Given the description of an element on the screen output the (x, y) to click on. 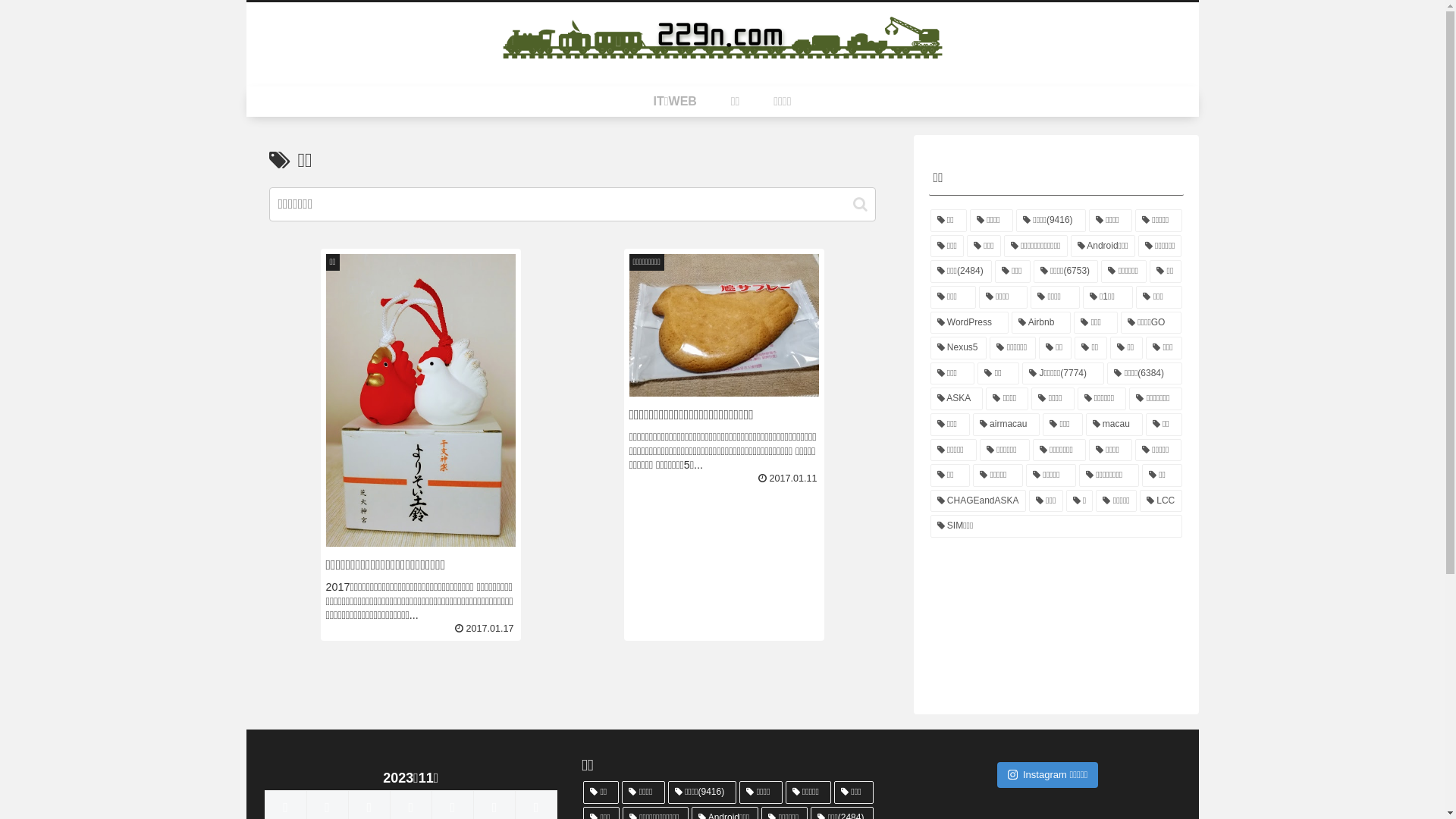
ASKA Element type: text (955, 398)
macau Element type: text (1113, 424)
LCC Element type: text (1160, 500)
Nexus5 Element type: text (957, 347)
airmacau Element type: text (1005, 424)
Airbnb Element type: text (1040, 322)
WordPress Element type: text (968, 322)
CHAGEandASKA Element type: text (977, 500)
